Given the description of an element on the screen output the (x, y) to click on. 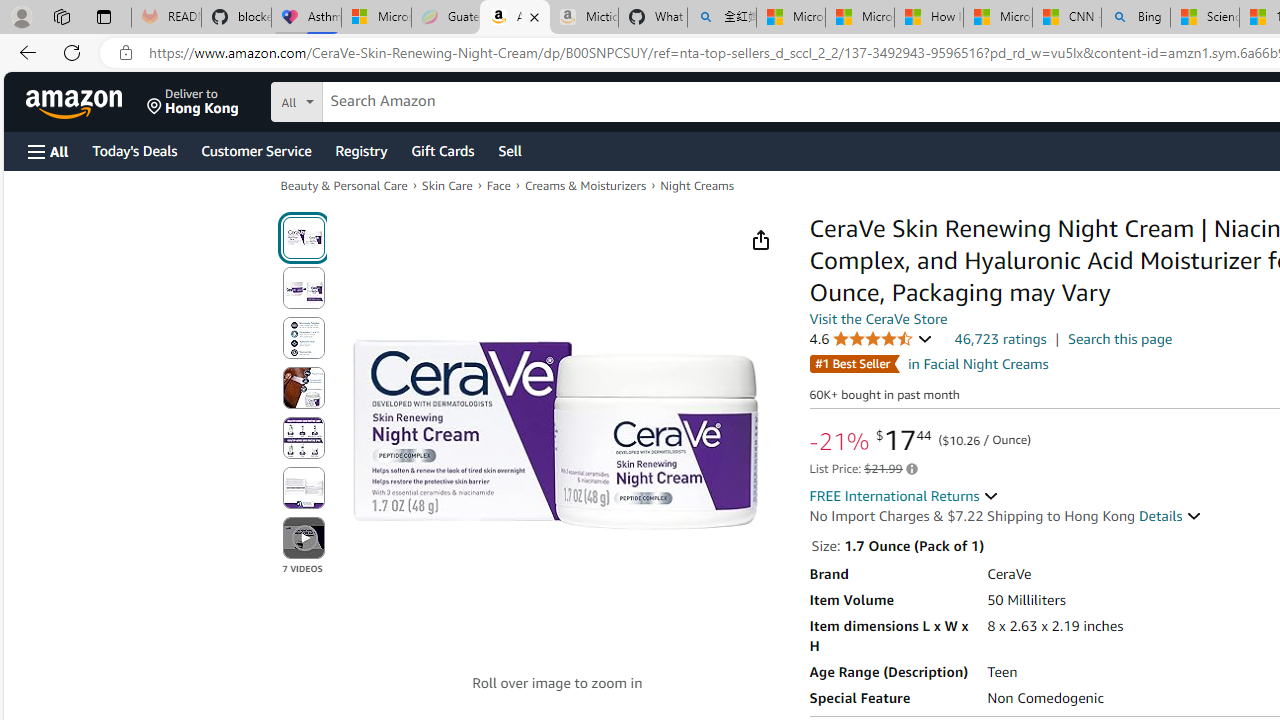
FREE International Returns  (903, 496)
#1 Best Seller in Facial Night Creams (928, 363)
Customer Service (256, 150)
Workspaces (61, 16)
Search in (371, 99)
Skin Care (447, 184)
Search this page (1119, 339)
Microsoft Start (997, 17)
Beauty & Personal Care (344, 185)
Night Creams (696, 184)
Registry (360, 150)
Night Creams (696, 185)
CNN - MSN (1066, 17)
